Given the description of an element on the screen output the (x, y) to click on. 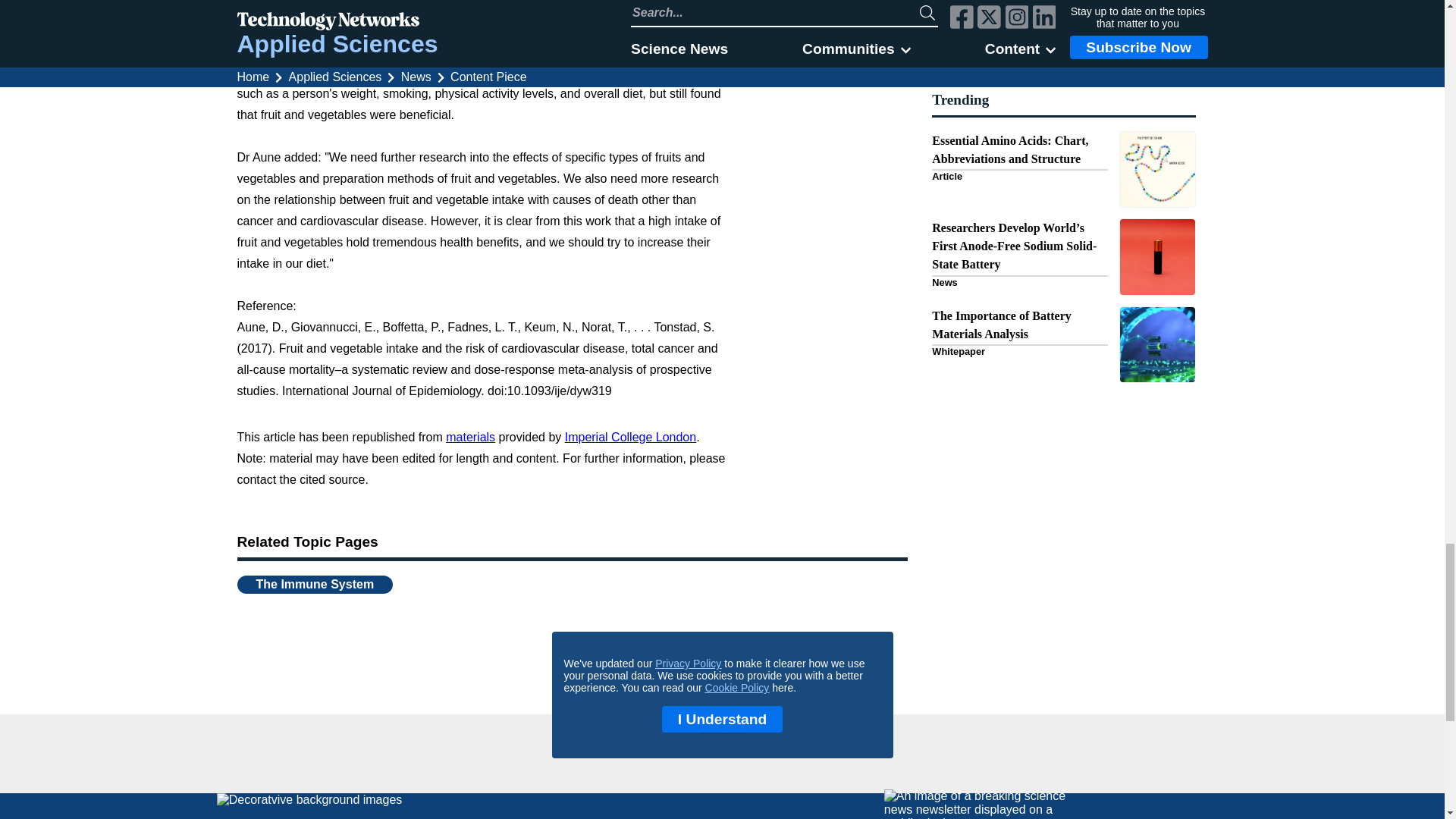
3rd party ad content (721, 758)
